Given the description of an element on the screen output the (x, y) to click on. 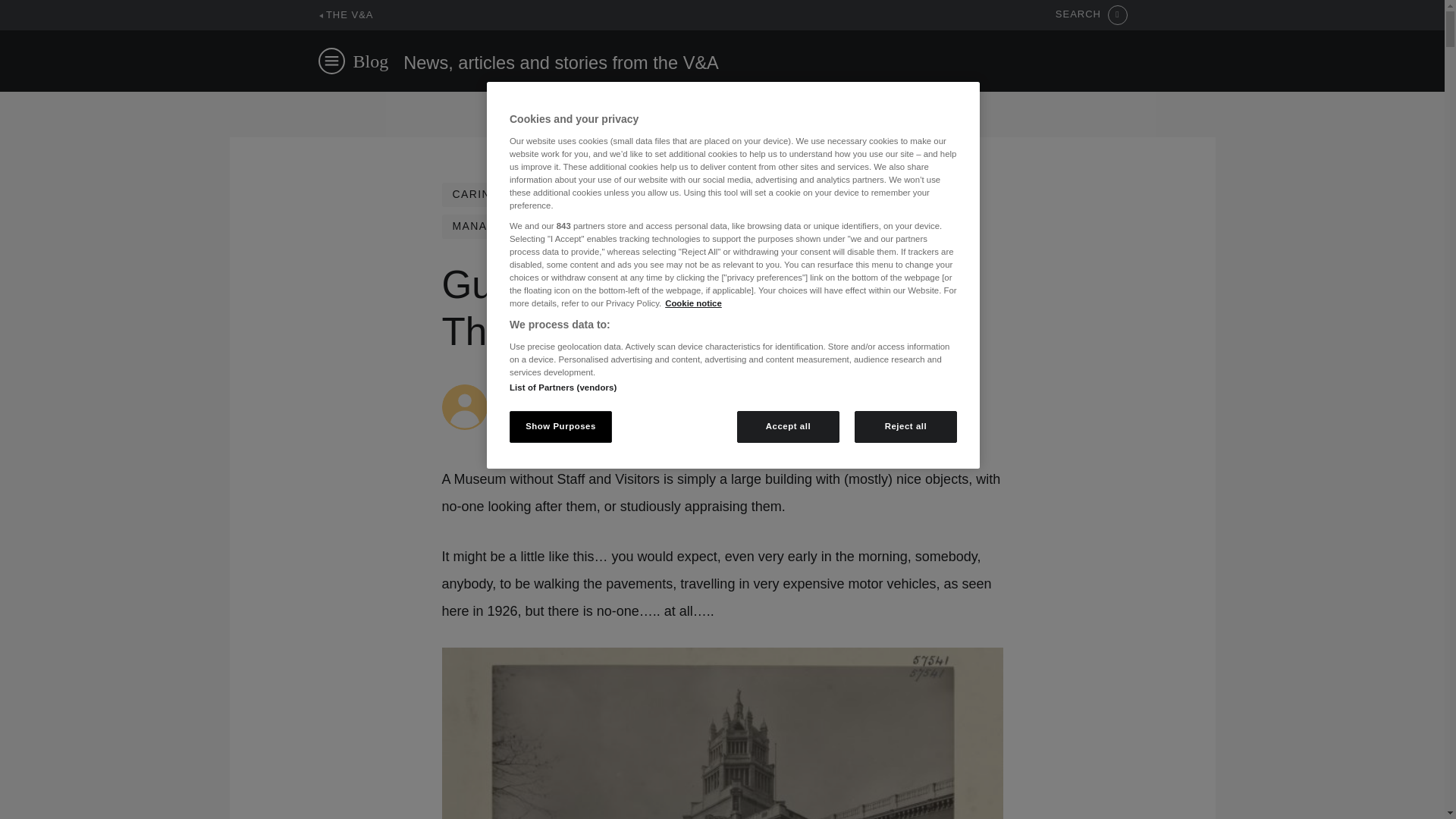
SEARCH (1090, 15)
Blog (370, 60)
CARING FOR OUR COLLECTIONS (551, 194)
Steve Woodhouse (546, 391)
MANAGING OUR COLLECTIONS (545, 226)
Posts by Steve Woodhouse (546, 391)
CONSERVATION (730, 194)
